Given the description of an element on the screen output the (x, y) to click on. 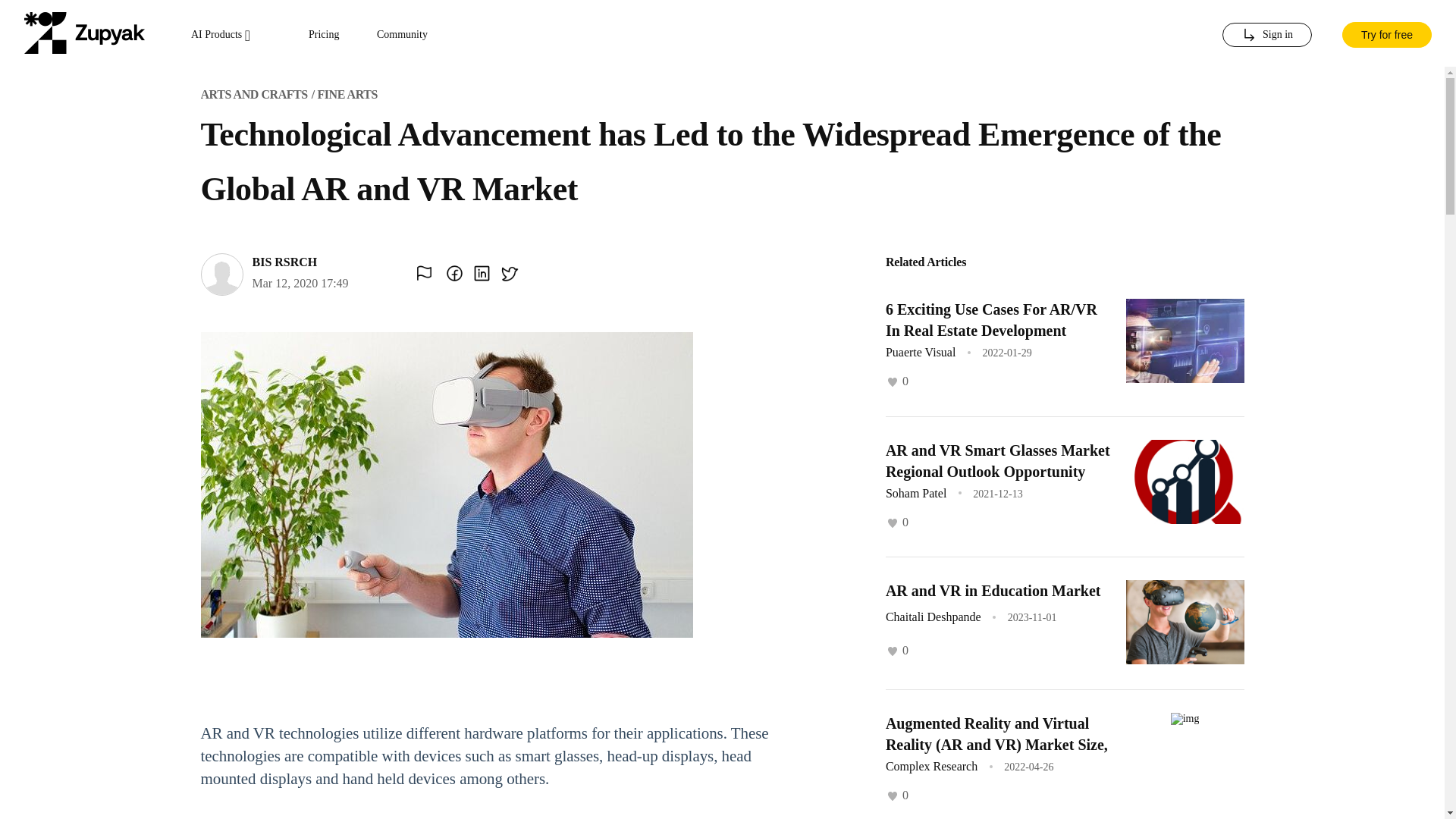
AR and VR in Education Market (992, 590)
FINE ARTS (347, 93)
 Sign in (1267, 34)
Community (402, 34)
Pricing (323, 34)
Try for free (1386, 33)
ARTS AND CRAFTS (253, 93)
